Given the description of an element on the screen output the (x, y) to click on. 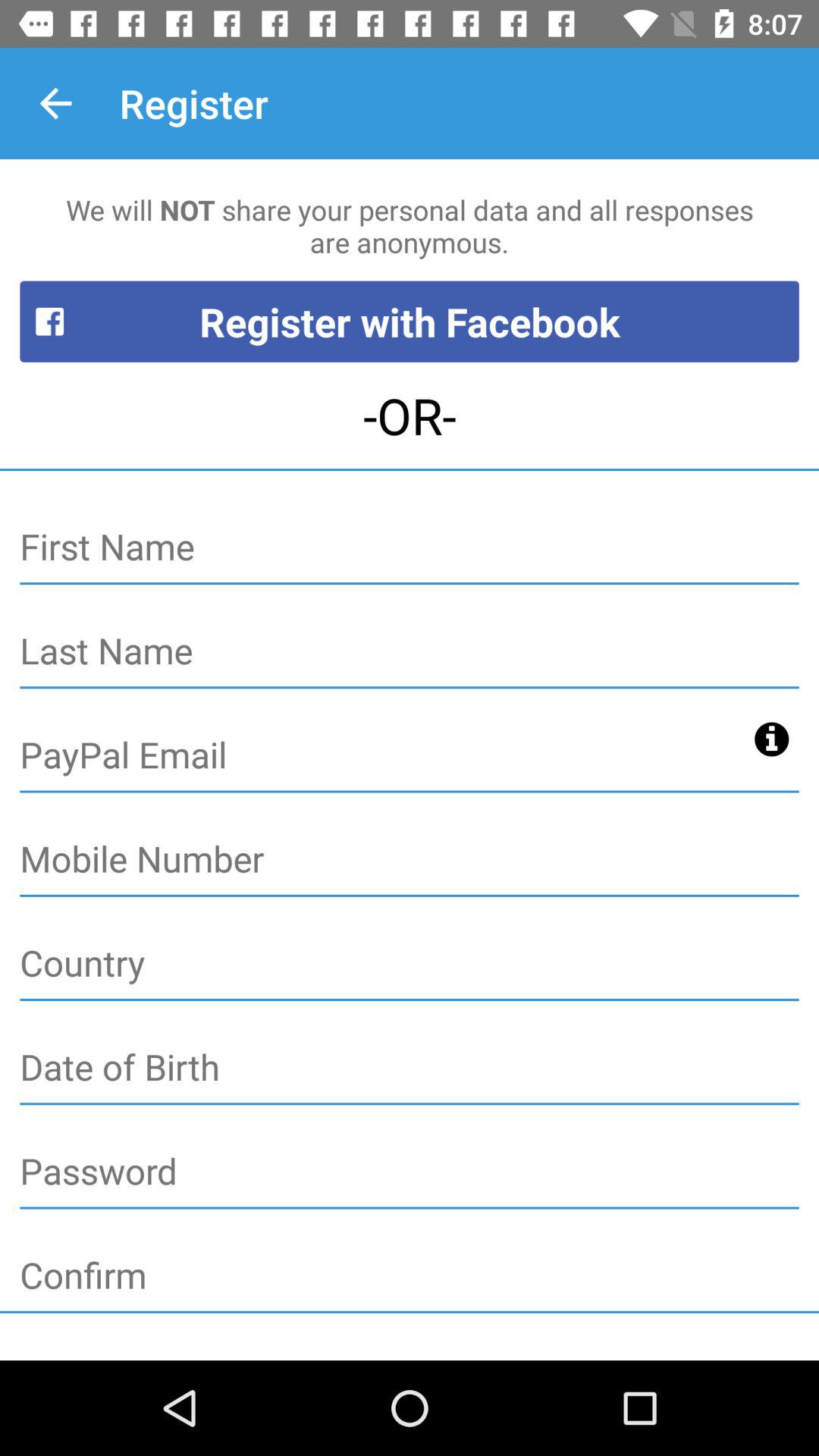
enter your last name (409, 651)
